Given the description of an element on the screen output the (x, y) to click on. 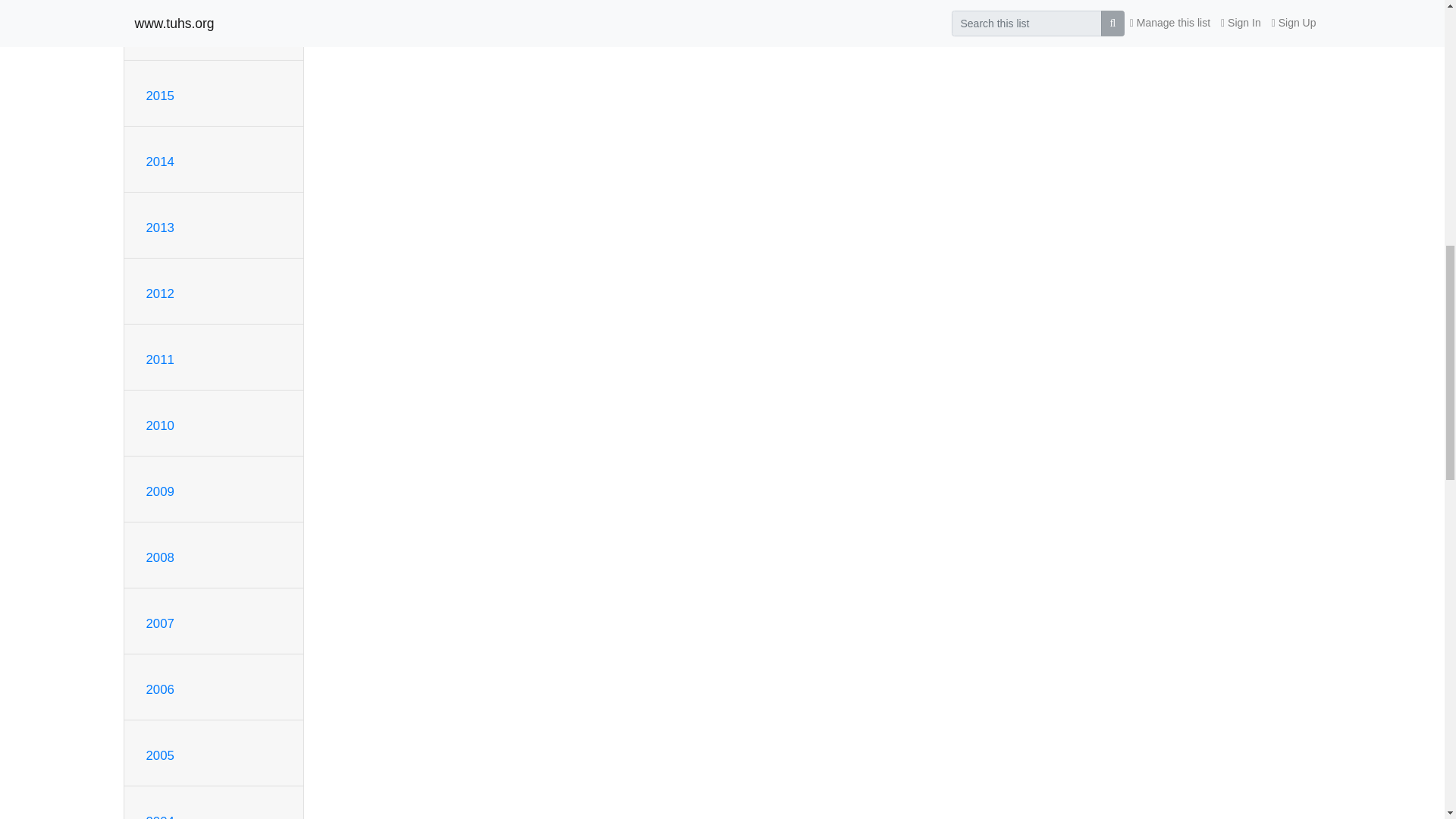
You must be logged-in to vote. (1007, 1)
You must be logged-in to vote. (1029, 1)
Sign in to reply online (359, 11)
